Given the description of an element on the screen output the (x, y) to click on. 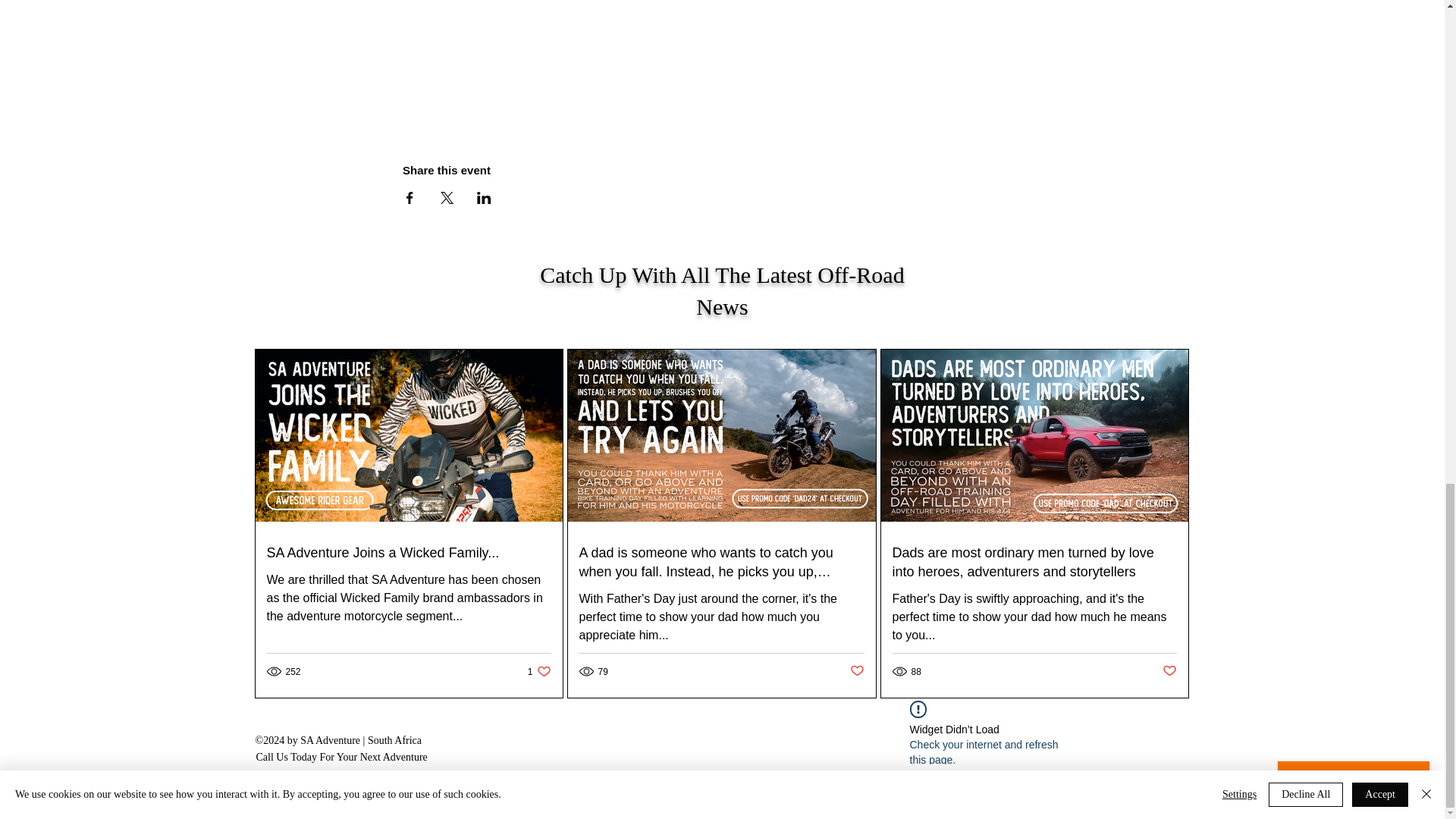
Catch Up With All The Latest Off-Road News (722, 290)
Call Us Today For Your Next Adventure (342, 756)
SA Adventure Joins a Wicked Family... (539, 671)
Post not marked as liked (408, 552)
Map (855, 671)
Post not marked as liked (721, 58)
